Given the description of an element on the screen output the (x, y) to click on. 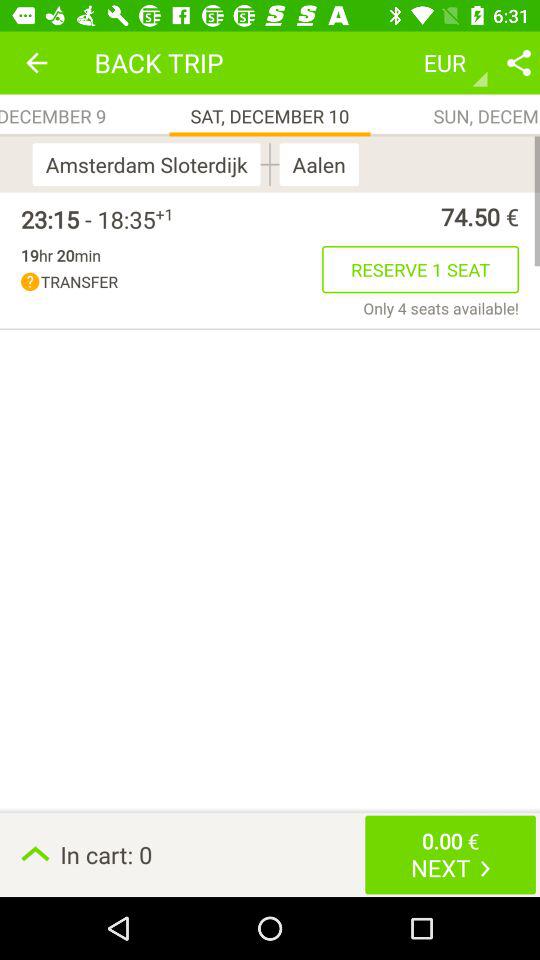
tap app below sat, december 10 icon (269, 164)
